Given the description of an element on the screen output the (x, y) to click on. 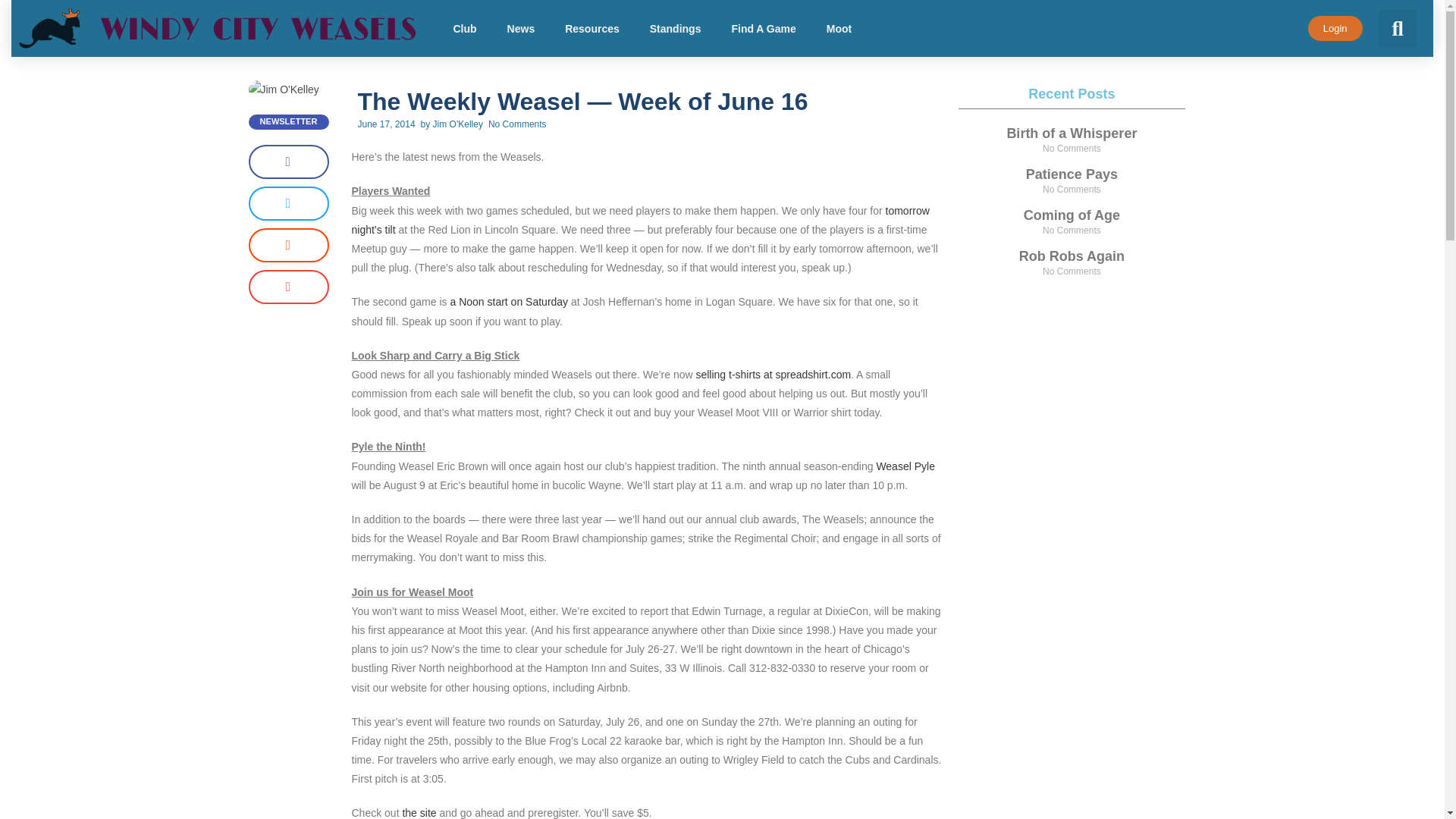
Standings (675, 28)
Resources (592, 28)
Find A Game (763, 28)
Moot (838, 28)
Club (465, 28)
News (521, 28)
